Given the description of an element on the screen output the (x, y) to click on. 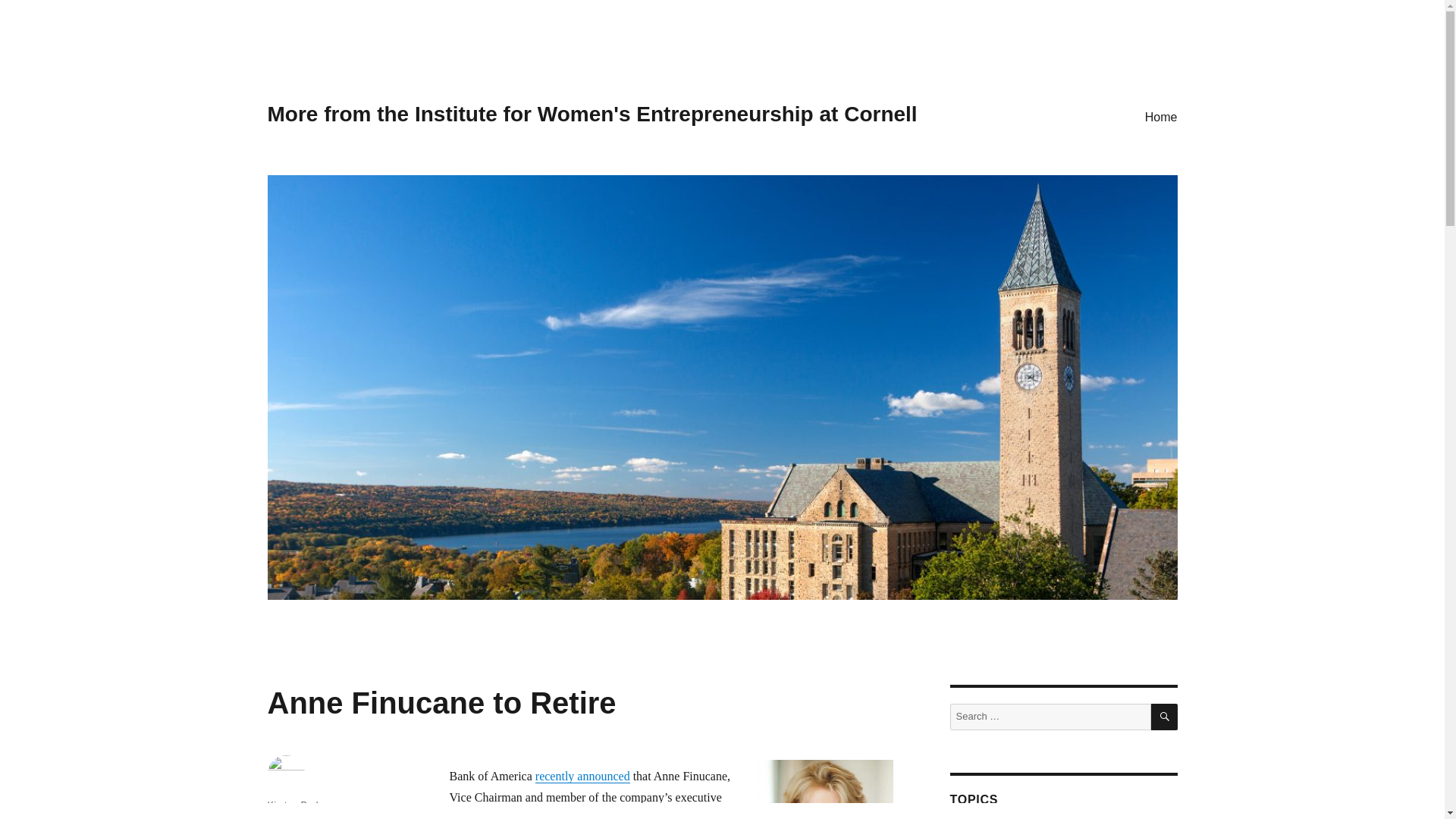
SEARCH (1164, 716)
recently announced (582, 775)
Home (1161, 116)
Kirsten Barker (297, 804)
